Given the description of an element on the screen output the (x, y) to click on. 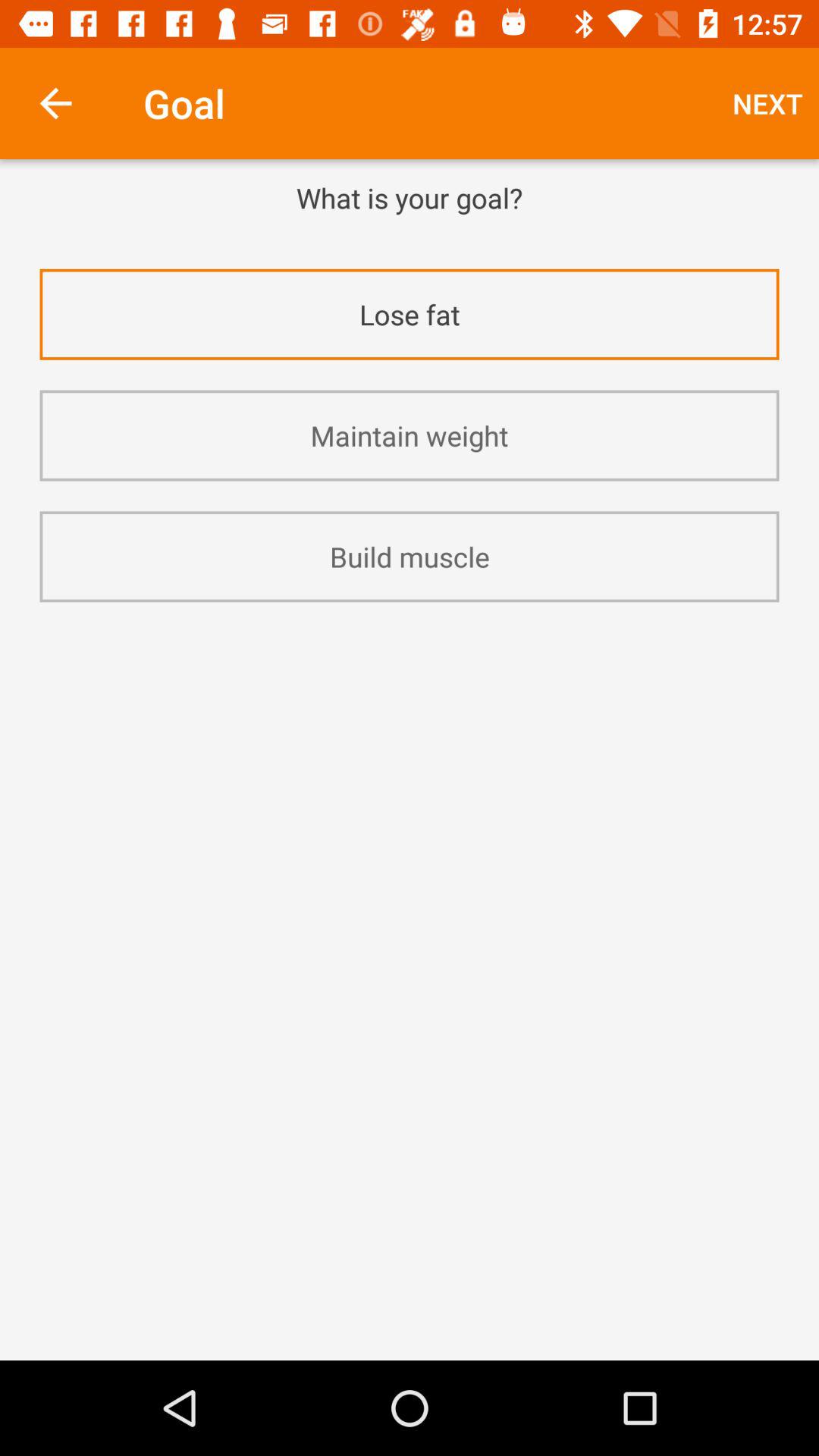
turn off the icon to the left of the goal icon (55, 103)
